Given the description of an element on the screen output the (x, y) to click on. 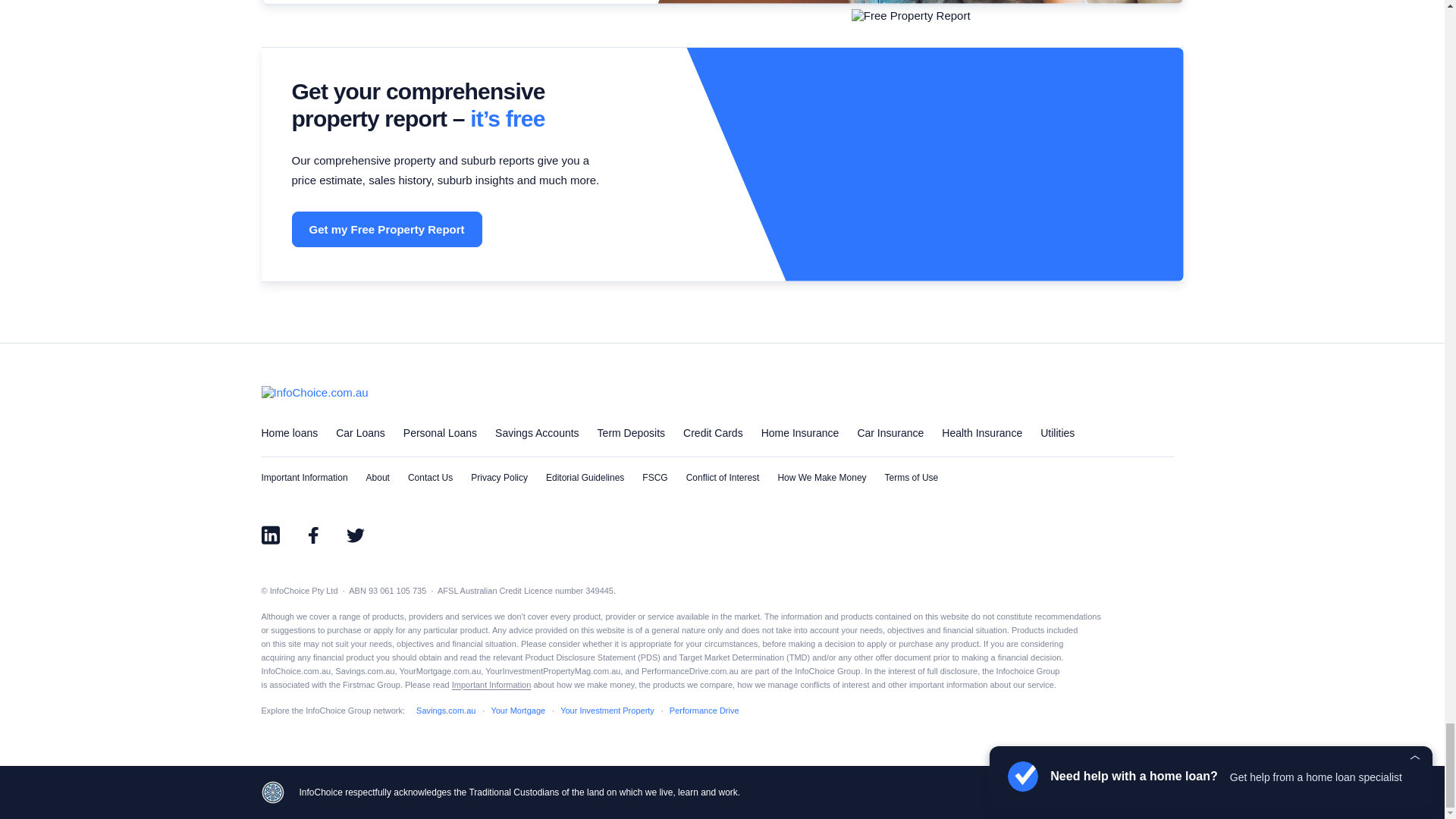
Follow InfoChoice on Facebook (312, 534)
Follow InfoChoice on Twitter (354, 534)
Follow InfoChoice on LinkedIn (269, 534)
